Given the description of an element on the screen output the (x, y) to click on. 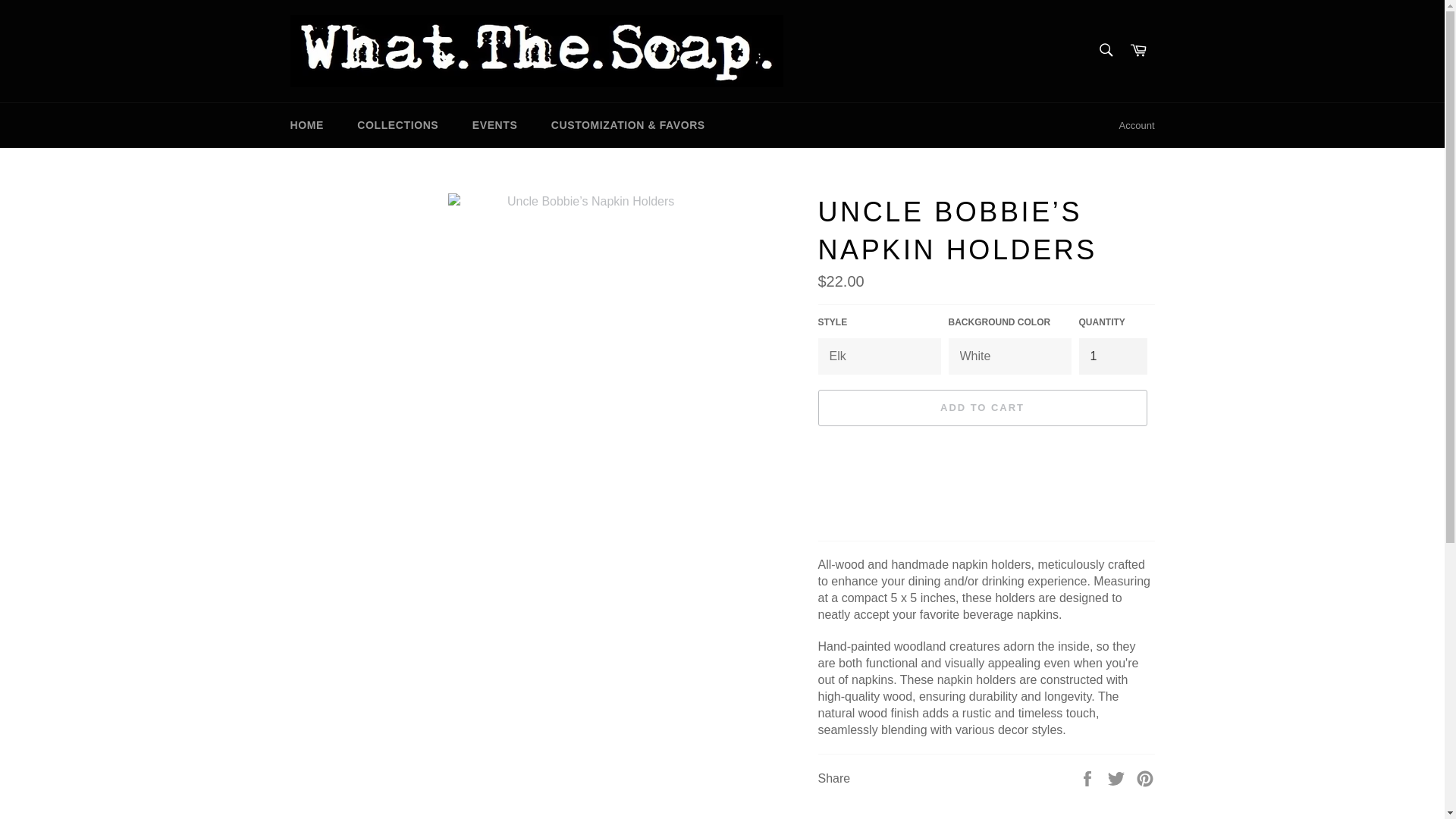
1 (1112, 356)
Tweet on Twitter (1117, 777)
Search (1104, 50)
Share on Facebook (1088, 777)
Pin on Pinterest (1144, 777)
Share on Facebook (1088, 777)
Account (1136, 126)
Cart (1138, 50)
COLLECTIONS (397, 125)
HOME (306, 125)
